Given the description of an element on the screen output the (x, y) to click on. 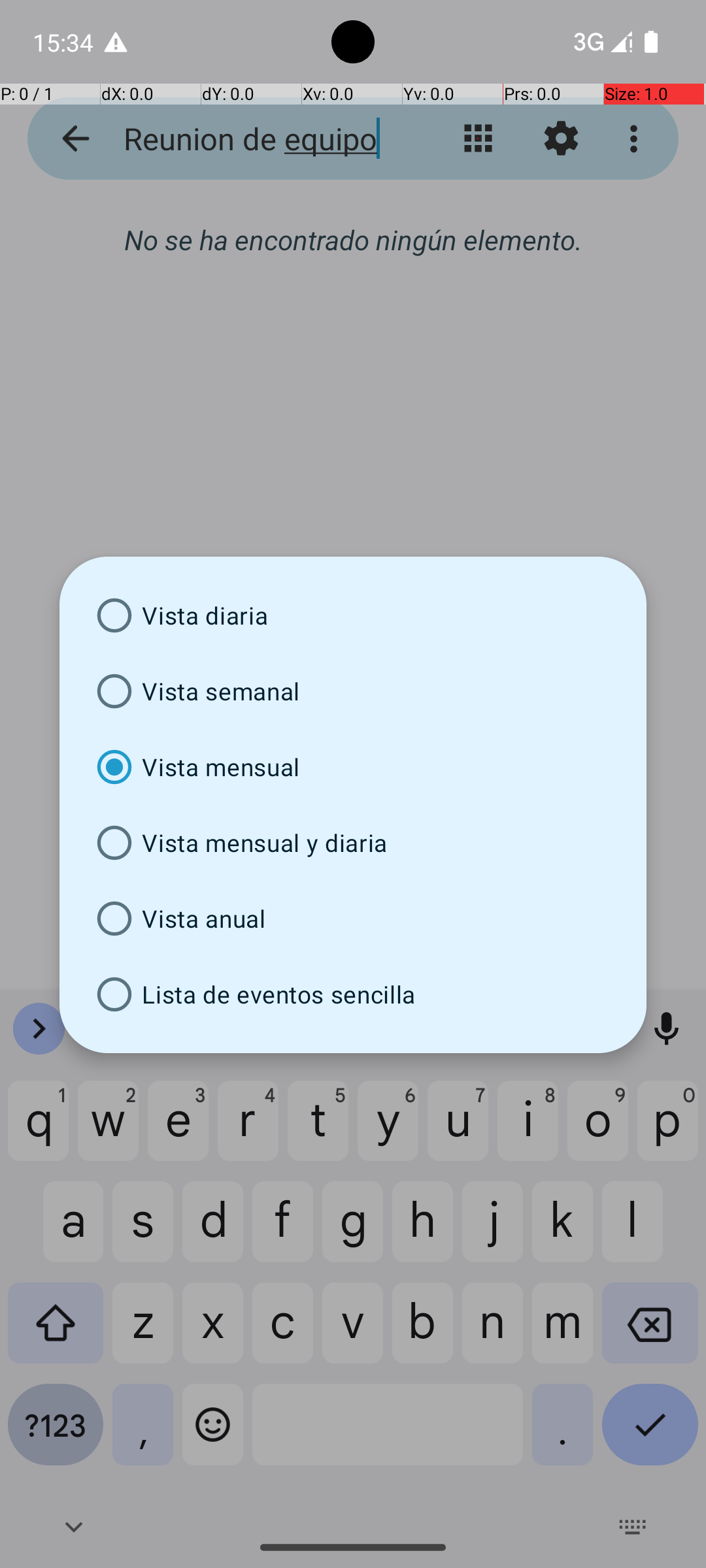
Vista diaria Element type: android.widget.RadioButton (352, 615)
Vista semanal Element type: android.widget.RadioButton (352, 691)
Vista mensual Element type: android.widget.RadioButton (352, 766)
Vista mensual y diaria Element type: android.widget.RadioButton (352, 842)
Vista anual Element type: android.widget.RadioButton (352, 918)
Lista de eventos sencilla Element type: android.widget.RadioButton (352, 994)
